Given the description of an element on the screen output the (x, y) to click on. 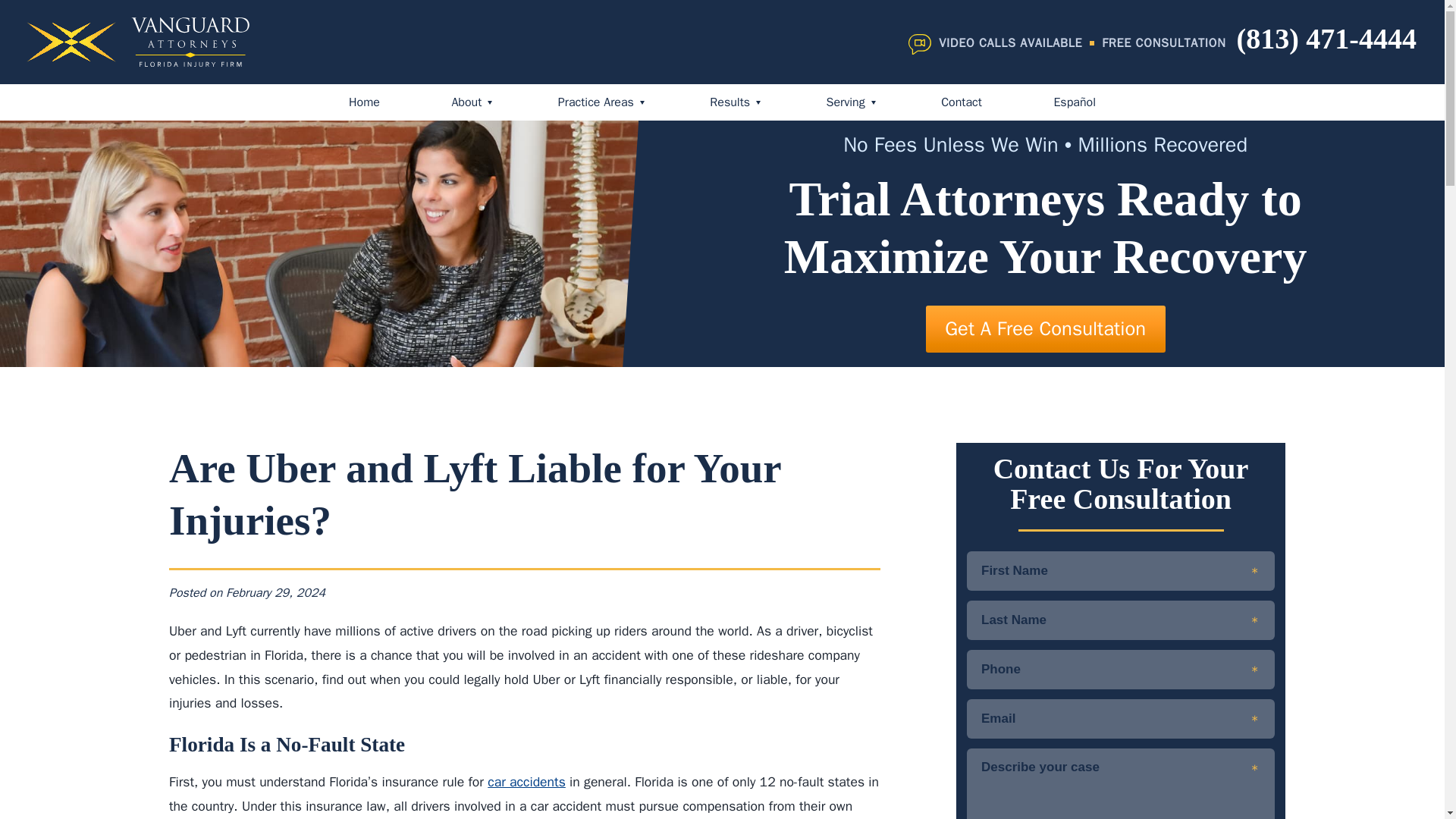
car accidents (526, 781)
About (468, 102)
Results (732, 102)
Serving (848, 102)
Contact (960, 102)
Practice Areas (598, 102)
Home (364, 102)
Get A Free Consultation (1046, 328)
